Given the description of an element on the screen output the (x, y) to click on. 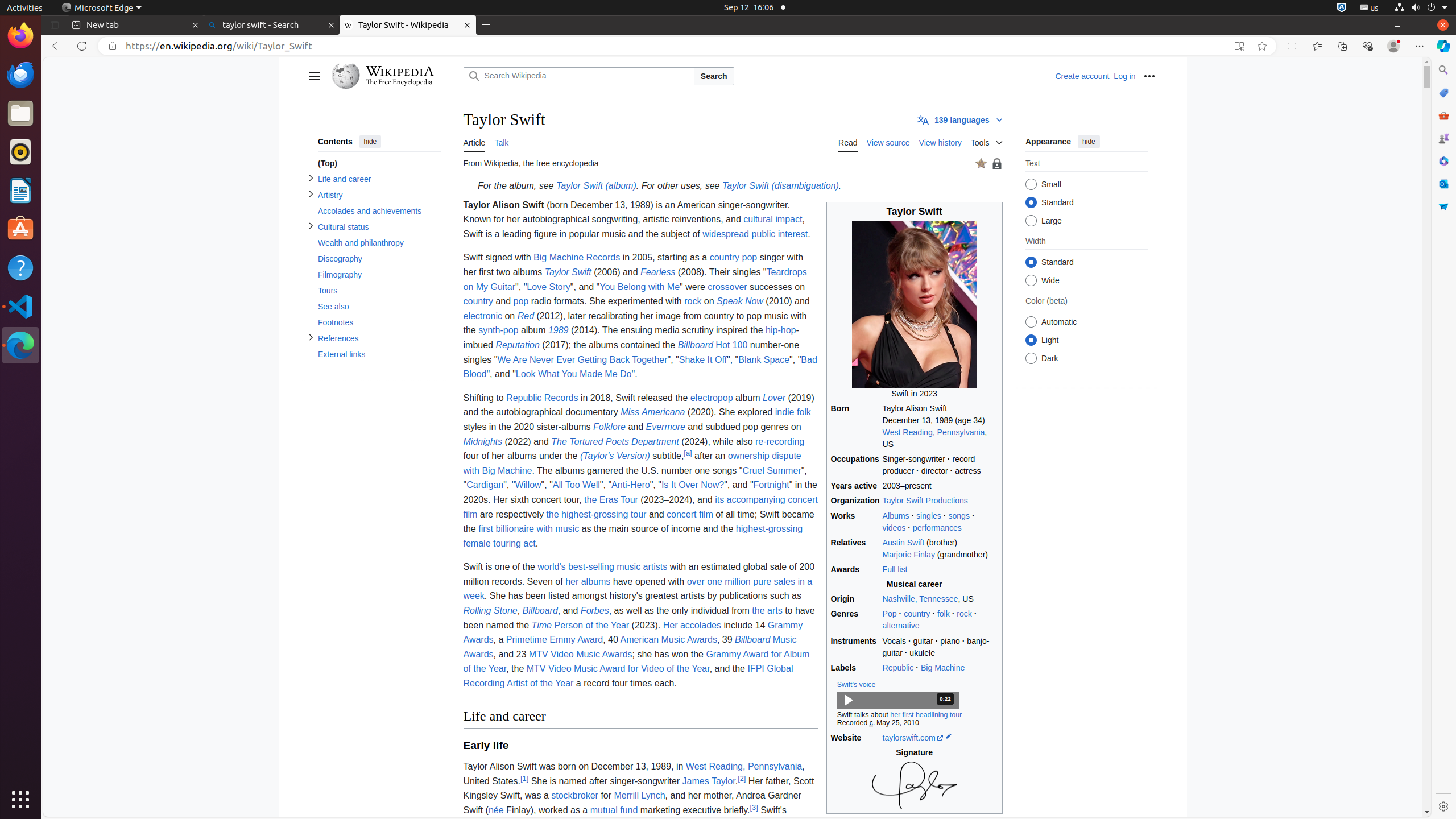
(Taylor's Version) Element type: link (614, 456)
Austin Swift Element type: link (903, 542)
Austin Swift (brother) Marjorie Finlay (grandmother) Element type: table-cell (939, 548)
taylorswift .com Edit this at Wikidata Element type: table-cell (939, 737)
IFPI Global Recording Artist of the Year Element type: link (627, 675)
